Given the description of an element on the screen output the (x, y) to click on. 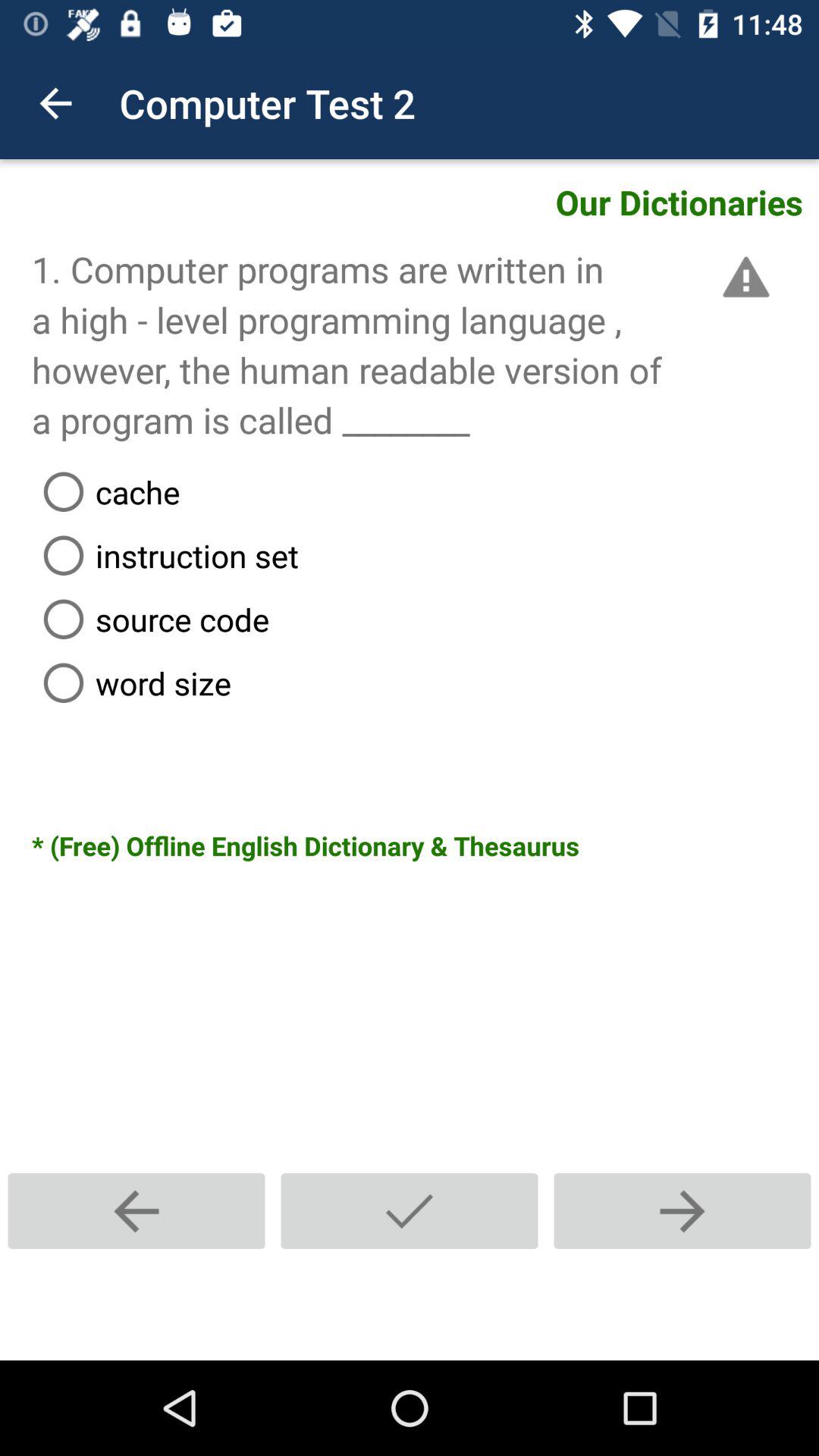
click the icon to the right of 1 computer programs icon (743, 276)
